Given the description of an element on the screen output the (x, y) to click on. 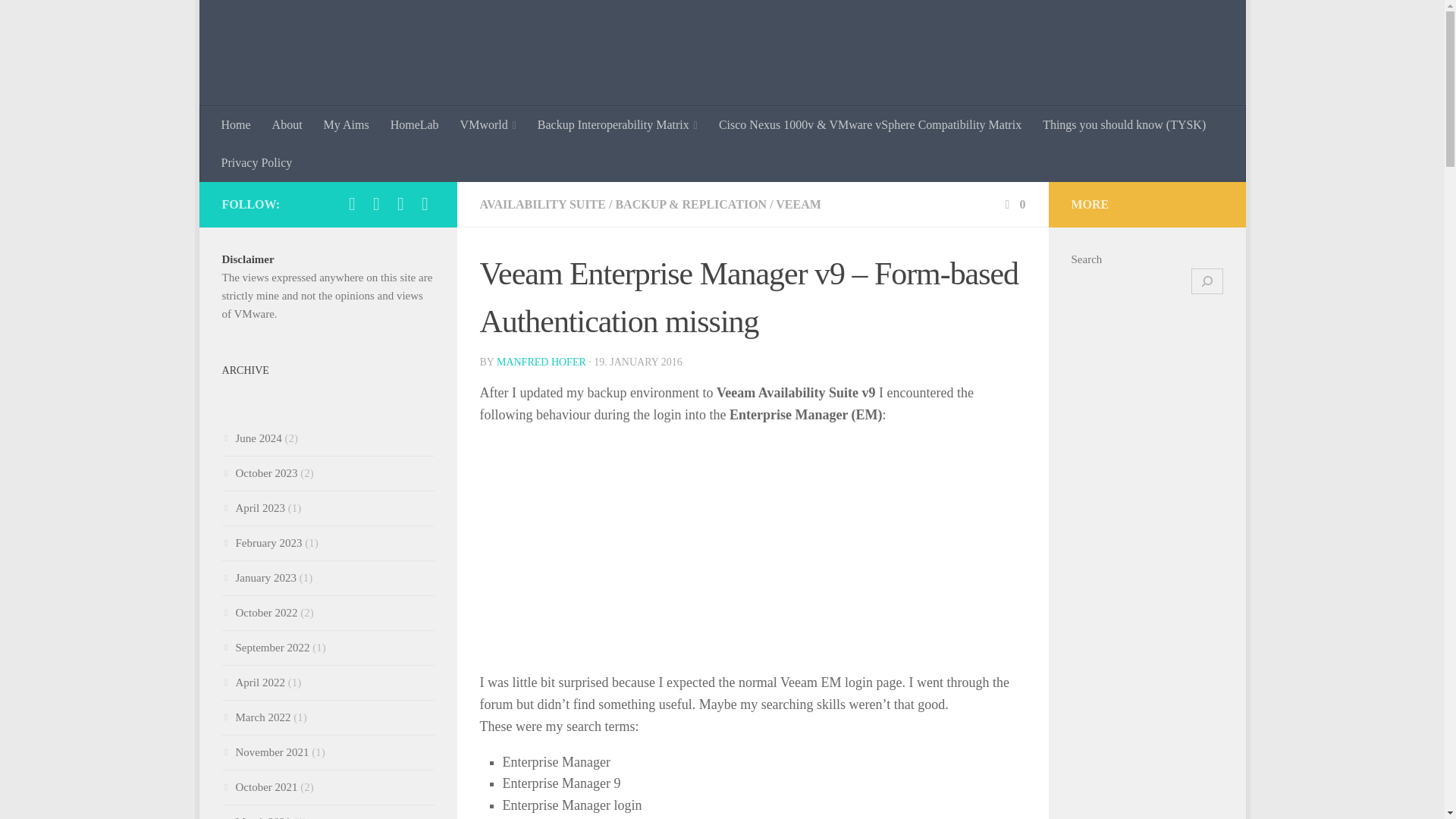
LinkedIn (375, 203)
HomeLab (414, 125)
Follow us on Twitter (351, 203)
Backup Interoperability Matrix (617, 125)
Privacy Policy (256, 162)
Posts by Manfred Hofer (541, 361)
Home (236, 125)
About (287, 125)
My Aims (346, 125)
RSS (423, 203)
Skip to content (258, 20)
Xing (400, 203)
AVAILABILITY SUITE (542, 204)
VMworld (488, 125)
